Given the description of an element on the screen output the (x, y) to click on. 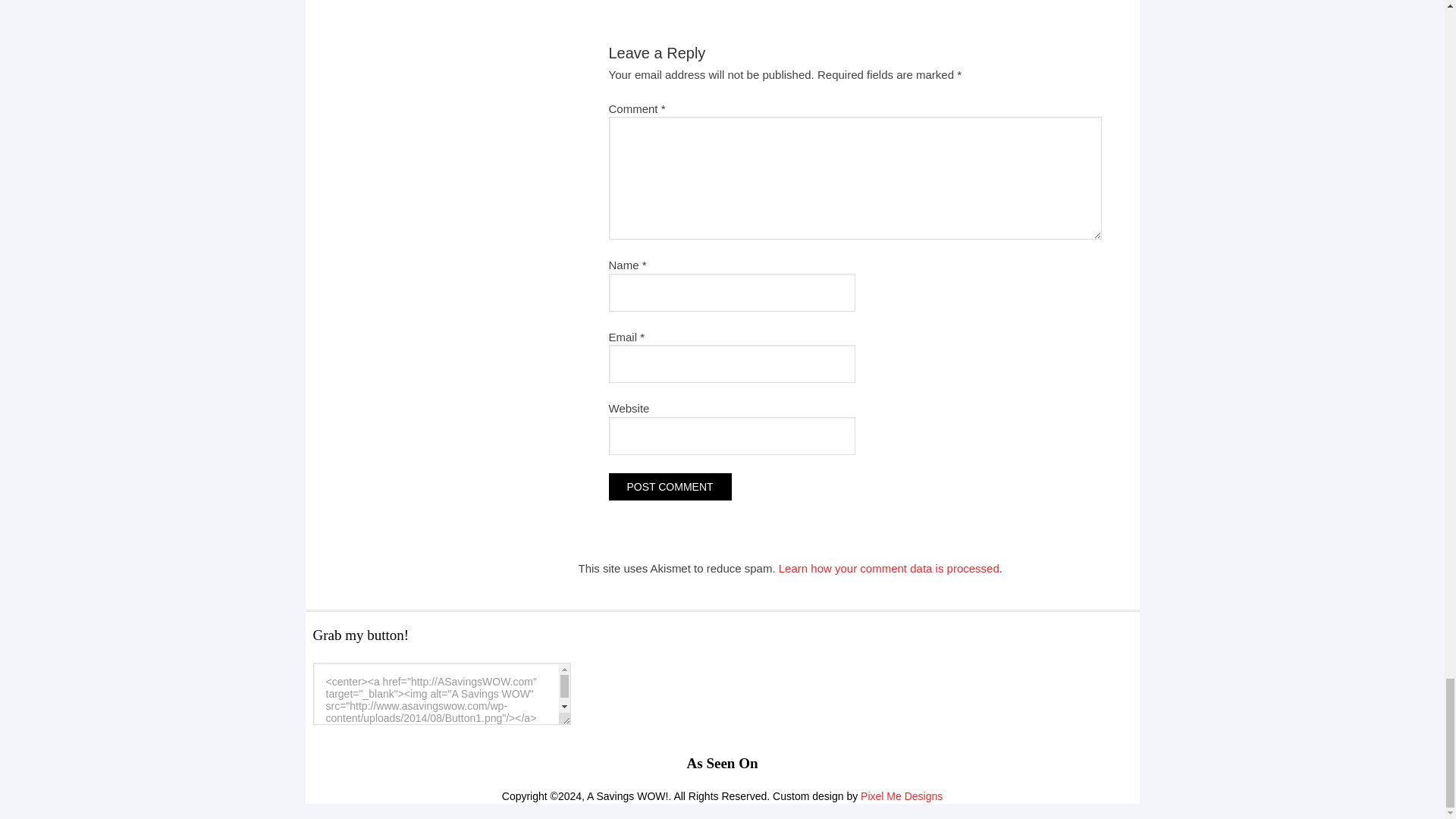
Post Comment (669, 486)
